Given the description of an element on the screen output the (x, y) to click on. 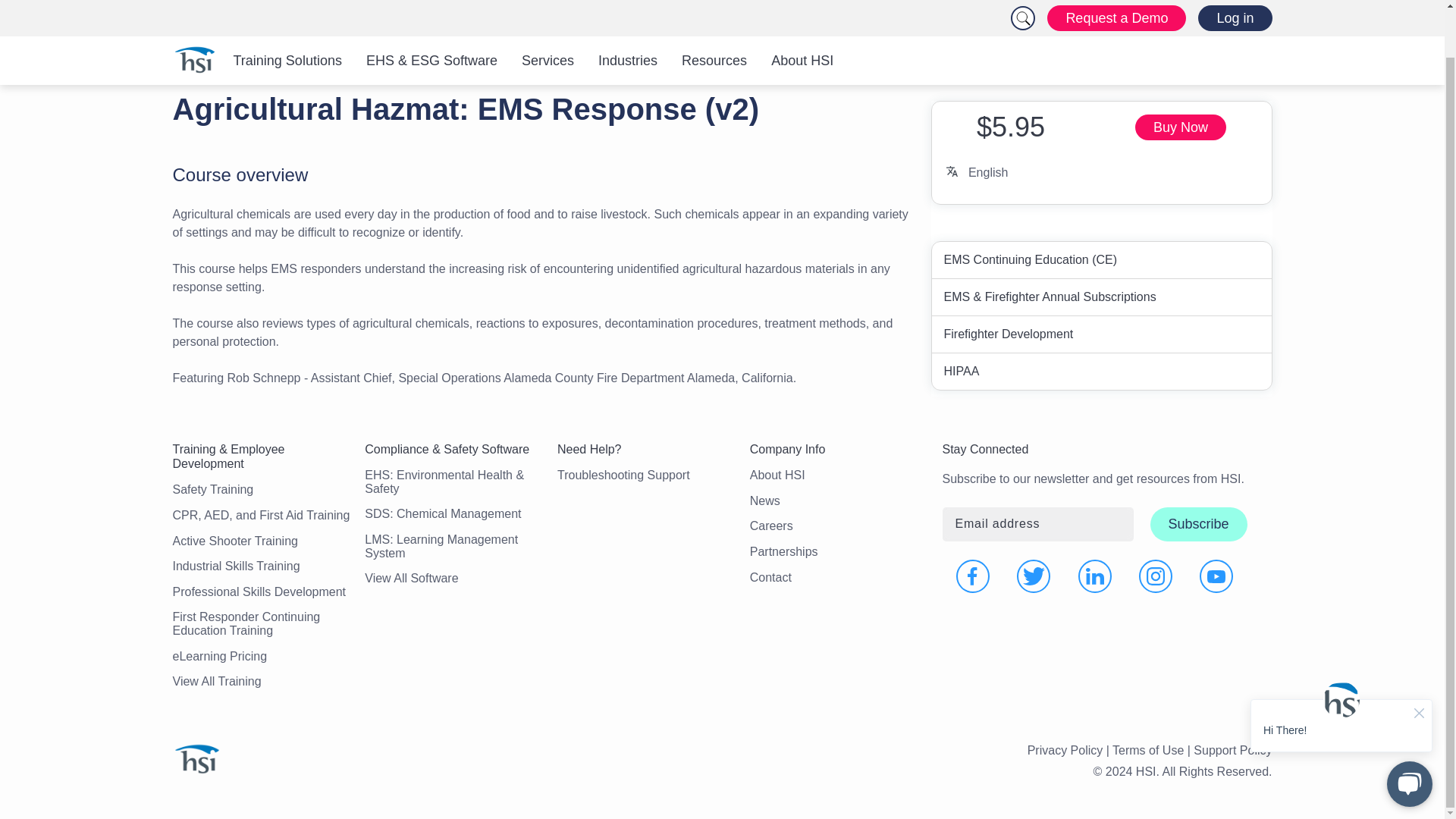
Opens in a new window (1180, 127)
Training Solutions (287, 14)
Opens in a new window (1216, 575)
Subscribe (1198, 523)
Opens in a new window (1155, 575)
Opens in a new window (1032, 575)
Opens in a new window (1095, 575)
Opens in a new window (973, 575)
